Given the description of an element on the screen output the (x, y) to click on. 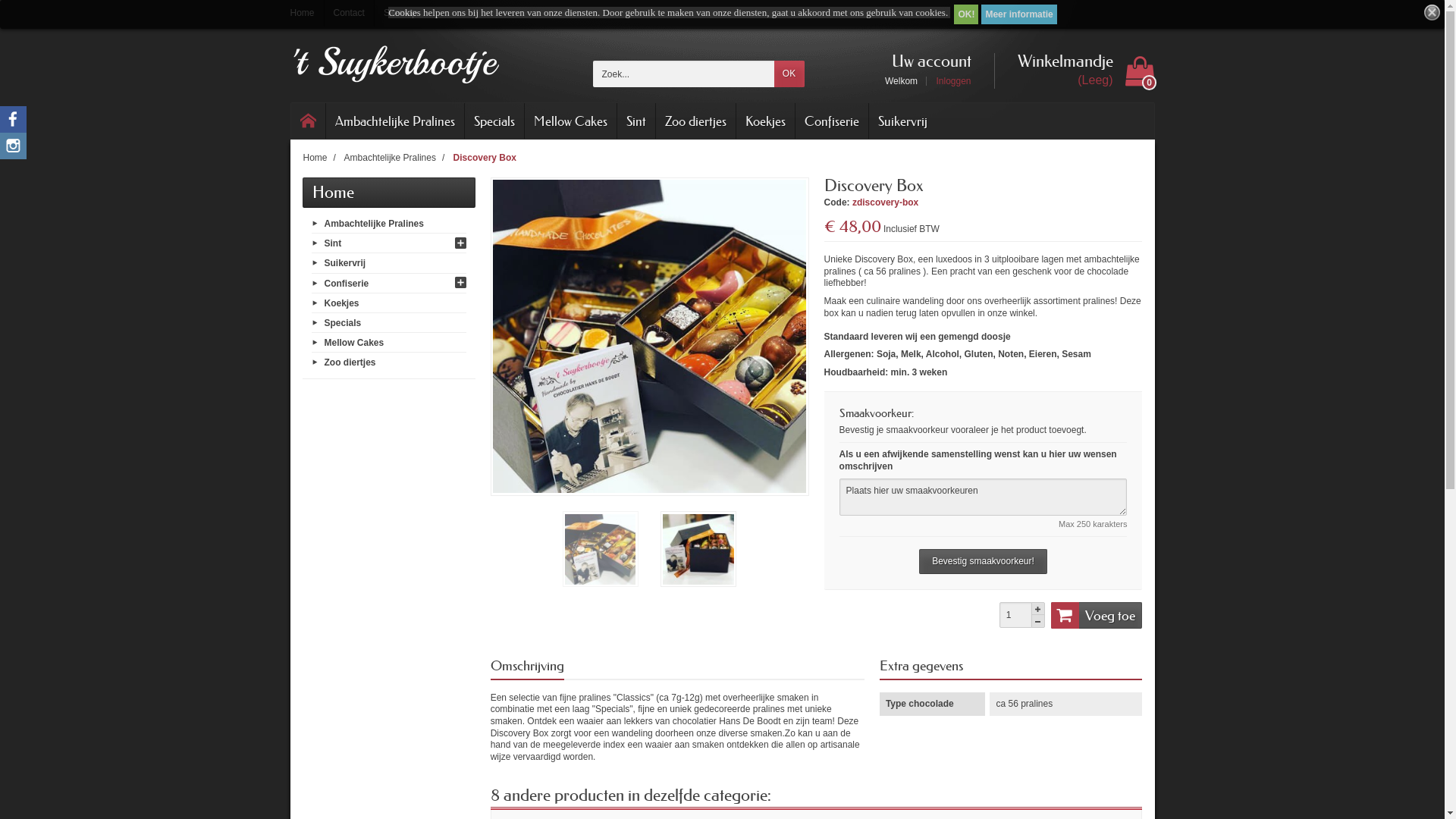
Contact Element type: text (348, 13)
Confiserie Element type: text (346, 282)
Zoo diertjes Element type: text (350, 362)
Home Element type: text (306, 13)
Home Element type: hover (308, 120)
Specials Element type: text (493, 120)
Specials Element type: text (342, 322)
Zoo diertjes Element type: text (694, 120)
Mellow Cakes Element type: text (570, 120)
Inloggen Element type: text (947, 80)
Facebook Element type: text (13, 119)
Uw account Element type: text (927, 61)
Home Element type: text (315, 157)
OK! Element type: text (965, 14)
Koekjes Element type: text (764, 120)
Confiserie Element type: text (830, 120)
OK Element type: text (788, 73)
Vernieuw Element type: text (18, 6)
Sint Element type: text (636, 120)
Koekjes Element type: text (341, 302)
Winkelmandje
(Leeg)
0 Element type: text (1073, 70)
Bevestig smaakvoorkeur! Element type: text (983, 561)
Ambachtelijke Pralines Element type: text (373, 223)
Suikervrij Element type: text (902, 120)
Suikervrij Element type: text (345, 262)
Sitemap Element type: text (395, 13)
Ambachtelijke Pralines Element type: text (390, 157)
Omschrijving Element type: text (527, 666)
Voeg toe Element type: text (1096, 614)
Meer informatie Element type: text (1018, 14)
Mellow Cakes Element type: text (354, 342)
Ambachtelijke Pralines Element type: text (395, 120)
Instagram Element type: text (13, 145)
Sint Element type: text (333, 243)
Discovery Box Element type: text (484, 157)
Home Element type: text (333, 192)
